Given the description of an element on the screen output the (x, y) to click on. 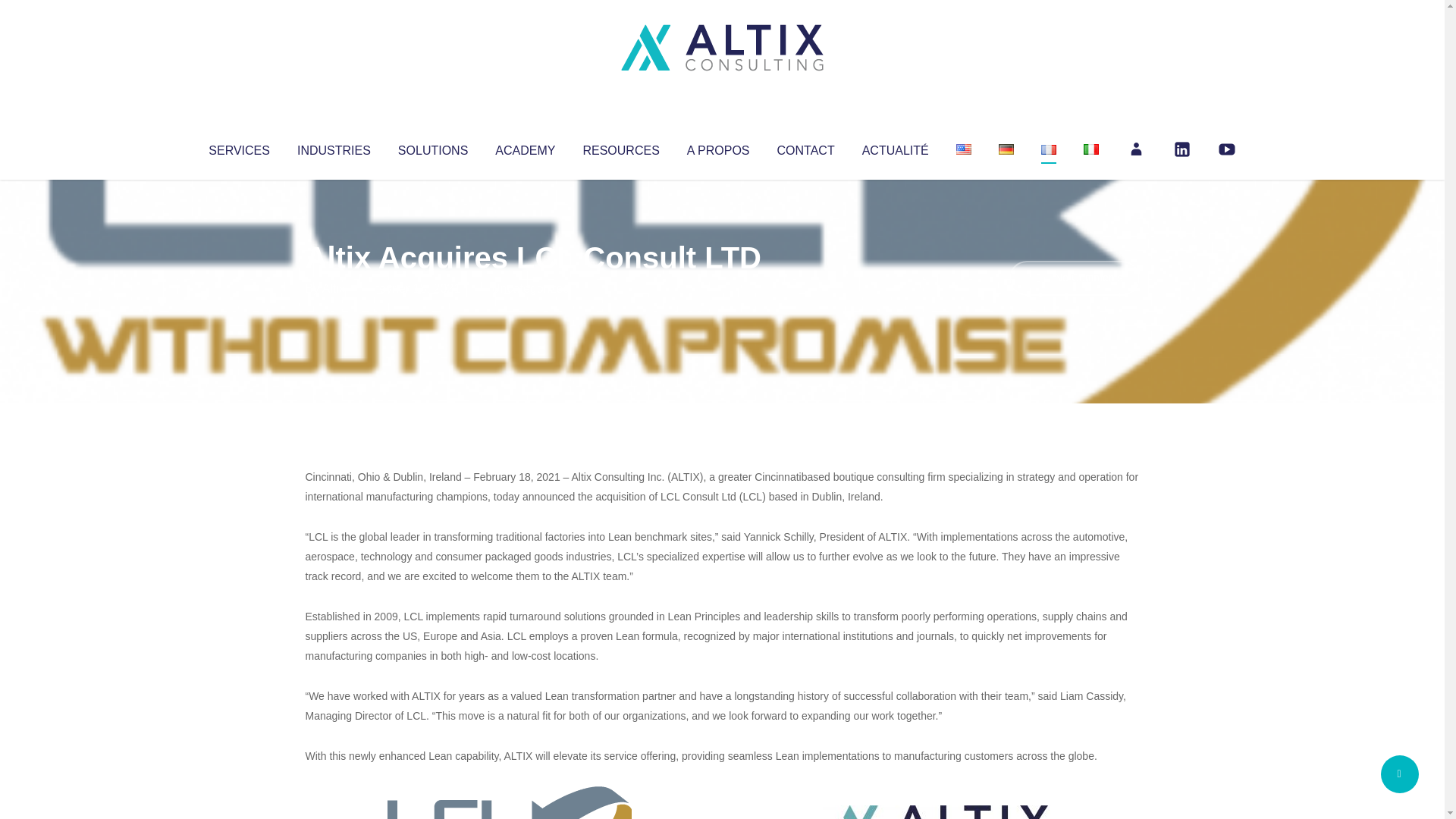
Uncategorized (530, 287)
SERVICES (238, 146)
SOLUTIONS (432, 146)
No Comments (1073, 278)
Altix (333, 287)
A PROPOS (718, 146)
Articles par Altix (333, 287)
ACADEMY (524, 146)
INDUSTRIES (334, 146)
RESOURCES (620, 146)
